Given the description of an element on the screen output the (x, y) to click on. 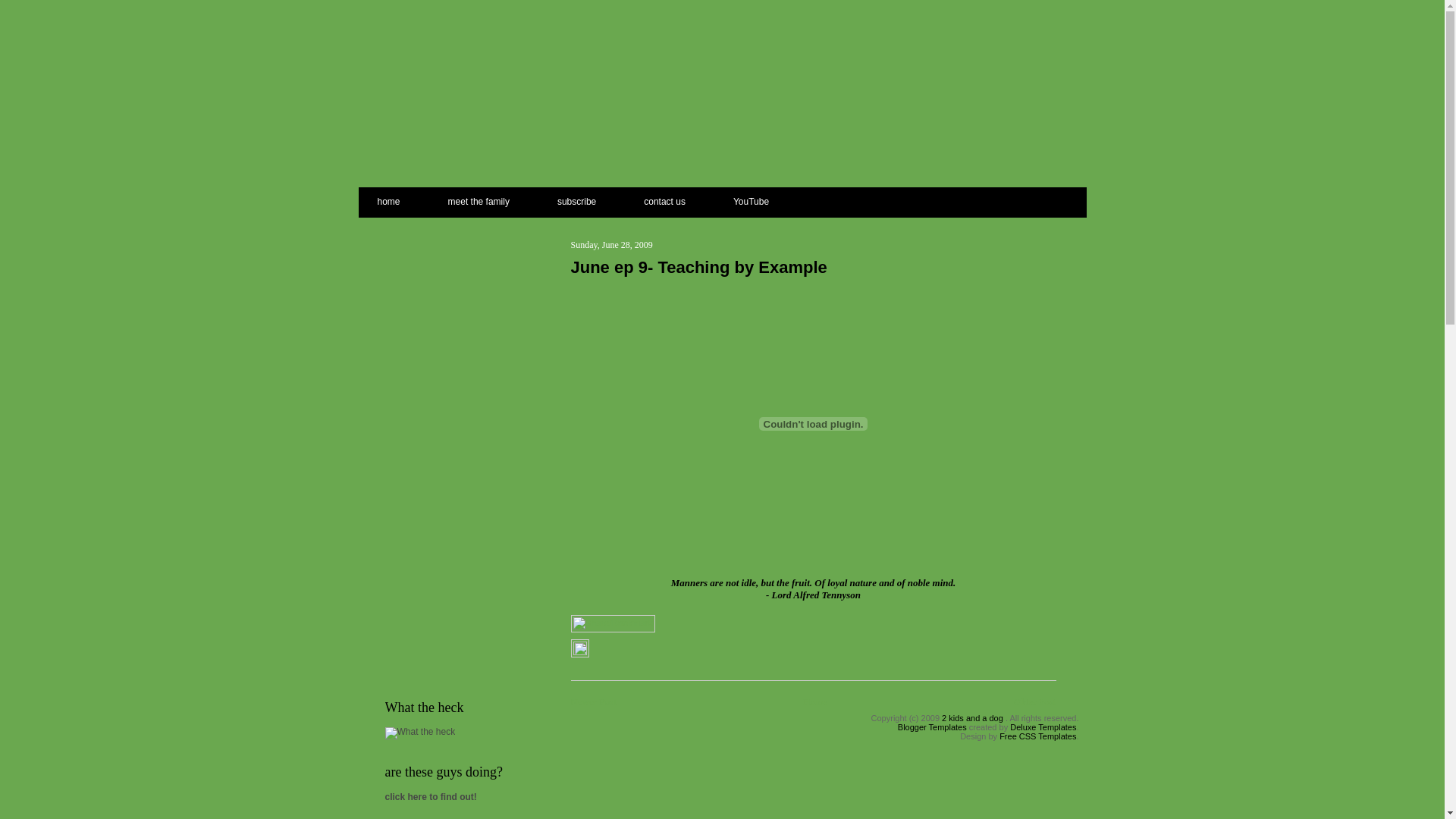
home Element type: text (400, 198)
Edit Post Element type: hover (579, 651)
Home Element type: text (815, 701)
subscribe Element type: text (576, 198)
Free CSS Templates Element type: text (1037, 735)
click here to find out! Element type: text (430, 796)
Newer Post Element type: text (592, 701)
Advertisement Element type: hover (445, 444)
Deluxe Templates Element type: text (1043, 726)
contact us Element type: text (664, 198)
YouTube Element type: text (750, 198)
meet the family Element type: text (478, 198)
Blogger Templates Element type: text (931, 726)
June ep 9- Teaching by Example Element type: text (812, 267)
2 kids and a dog Element type: text (972, 717)
Older Post Element type: text (1034, 701)
